Given the description of an element on the screen output the (x, y) to click on. 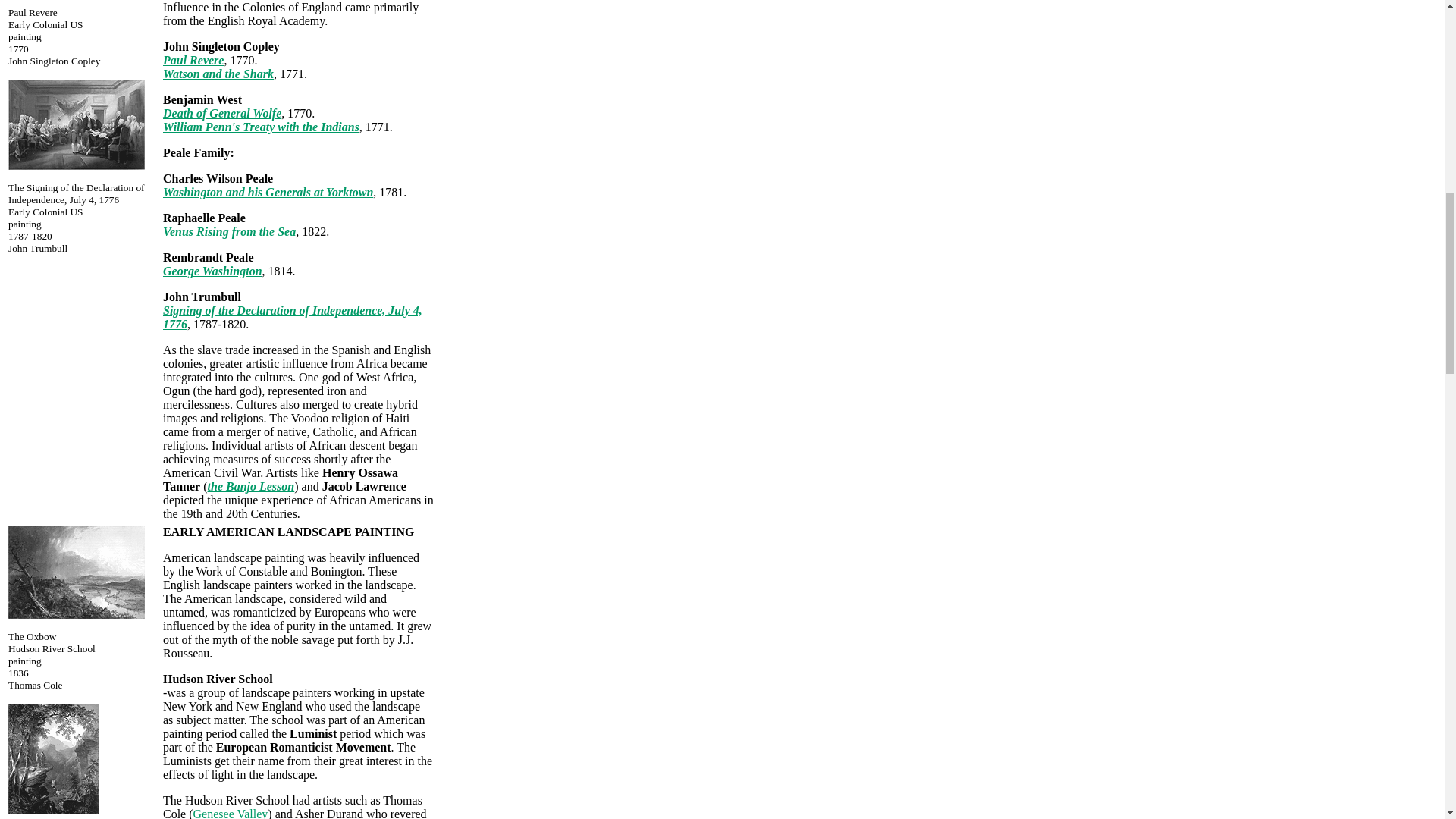
William Penn's Treaty with the Indians (261, 126)
John Trumbull, Signing of the Declaration of Independence (76, 164)
Washington and his Generals at Yorktown (267, 192)
Henry Ossawa Tanner, The Banjo Lesson (251, 486)
West, Death of General Wolfe (222, 113)
Death of General Wolfe (222, 113)
George Washington (212, 270)
Rembrandt Peale, Portrait of George Washington (212, 270)
West, Penn's treaty with the Indians (261, 126)
Copley, Paul Revere (193, 60)
Watson and the Shark (218, 73)
Copley, Watson and the Shark (218, 73)
Raphaelle Peale, Venus Rising from the Sea (229, 231)
Venus Rising from the Sea (229, 231)
Paul Revere (193, 60)
